Given the description of an element on the screen output the (x, y) to click on. 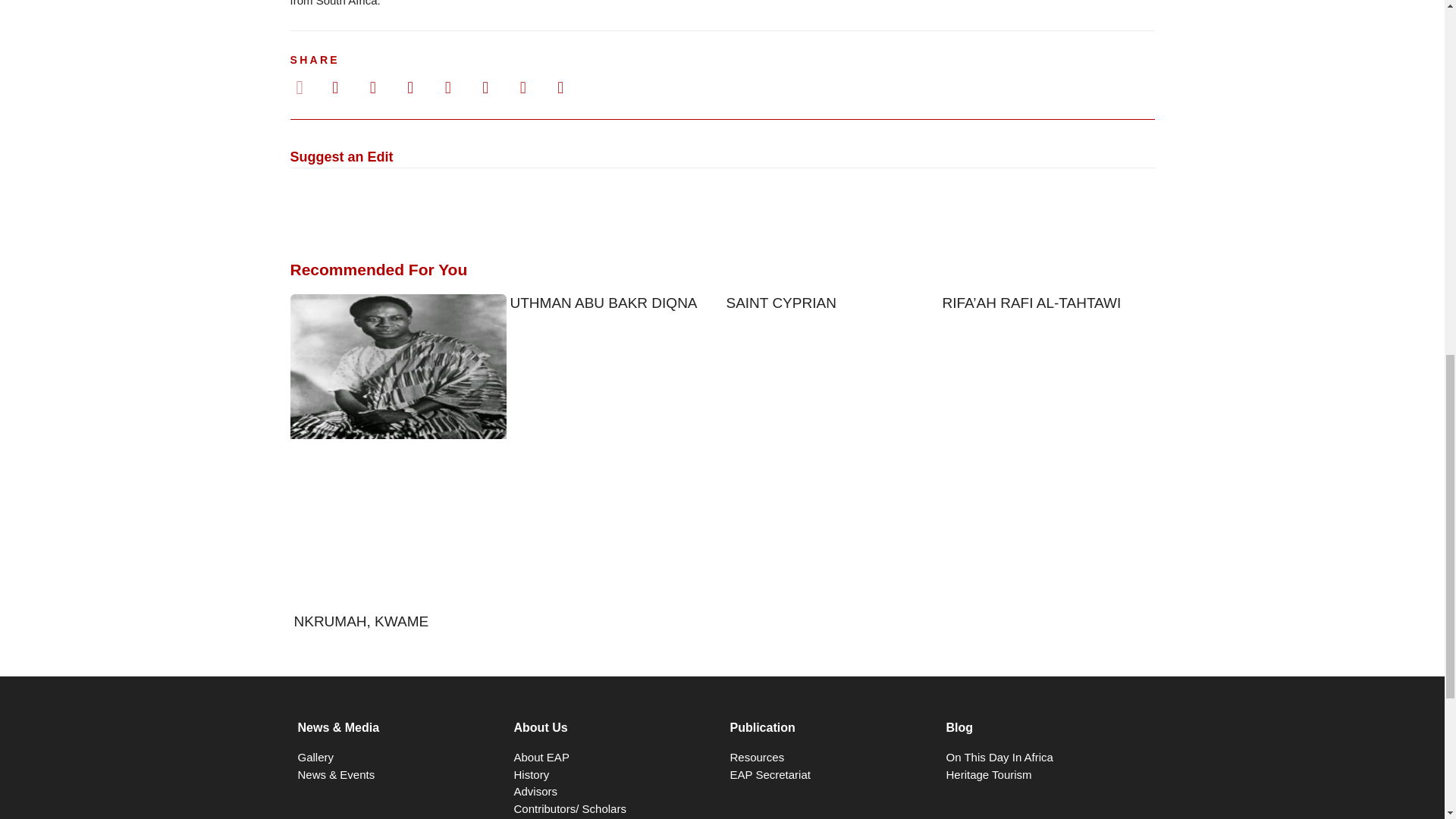
NKRUMAH, KWAME (361, 621)
Suggest an Edit (341, 157)
UTHMAN ABU BAKR DIQNA (603, 302)
